Given the description of an element on the screen output the (x, y) to click on. 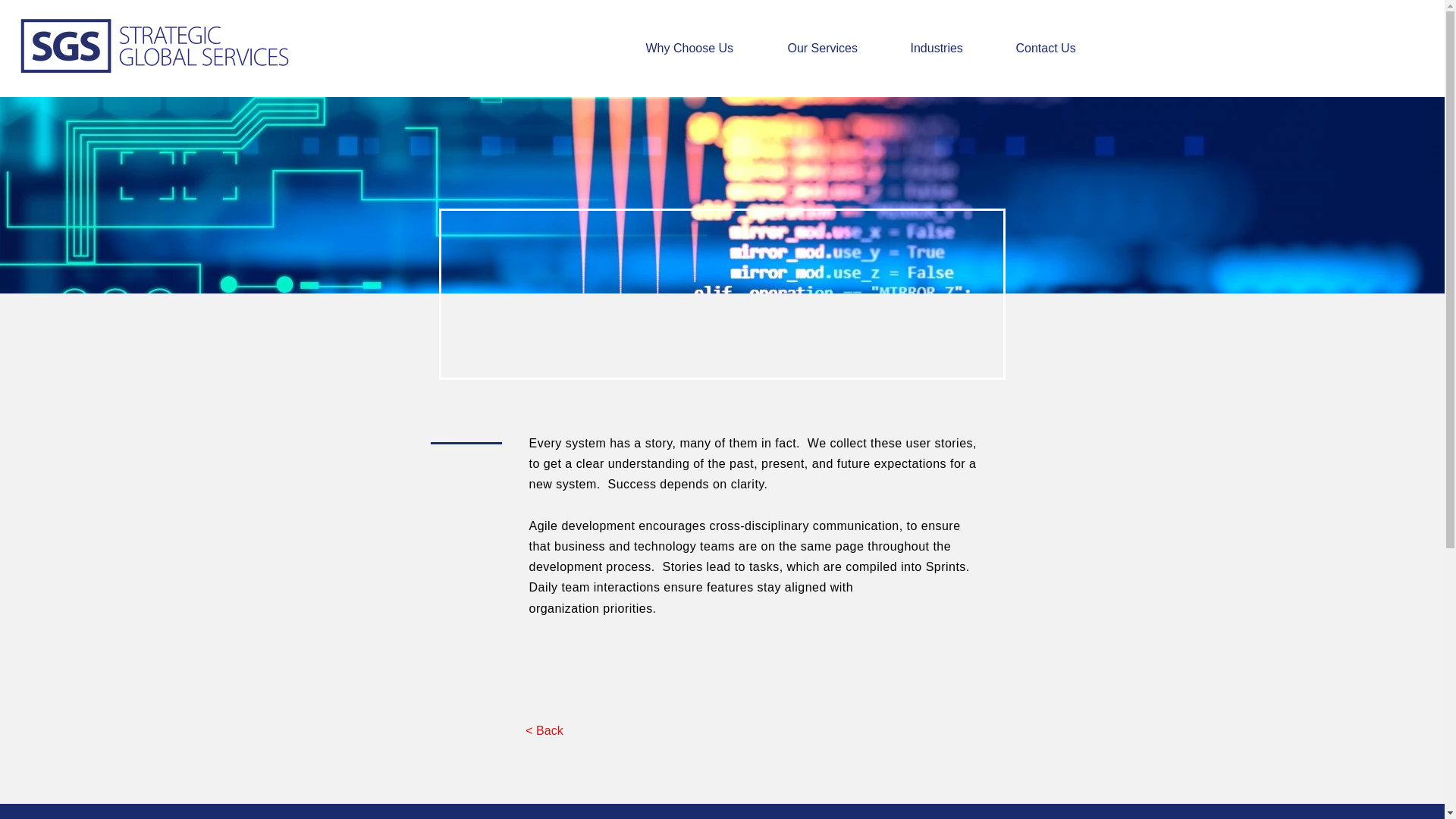
Our Services (837, 48)
Why Choose Us (704, 48)
Contact Us (1060, 48)
Industries (951, 48)
